Given the description of an element on the screen output the (x, y) to click on. 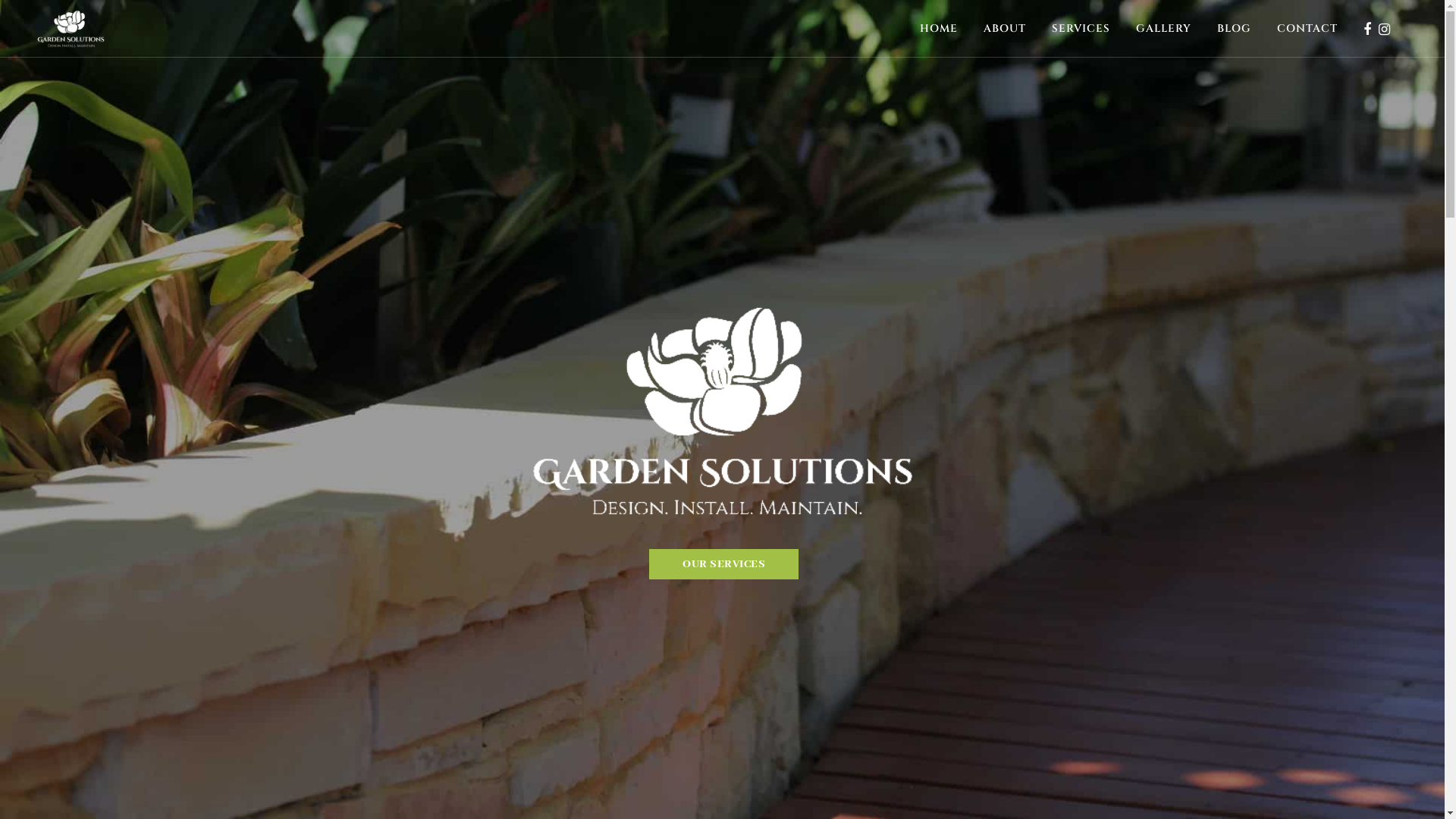
ABOUT Element type: text (1004, 28)
HOME Element type: text (938, 28)
SERVICES Element type: text (1080, 28)
CONTACT Element type: text (1307, 28)
GALLERY Element type: text (1163, 28)
BLOG Element type: text (1234, 28)
OUR SERVICES Element type: text (723, 564)
